Given the description of an element on the screen output the (x, y) to click on. 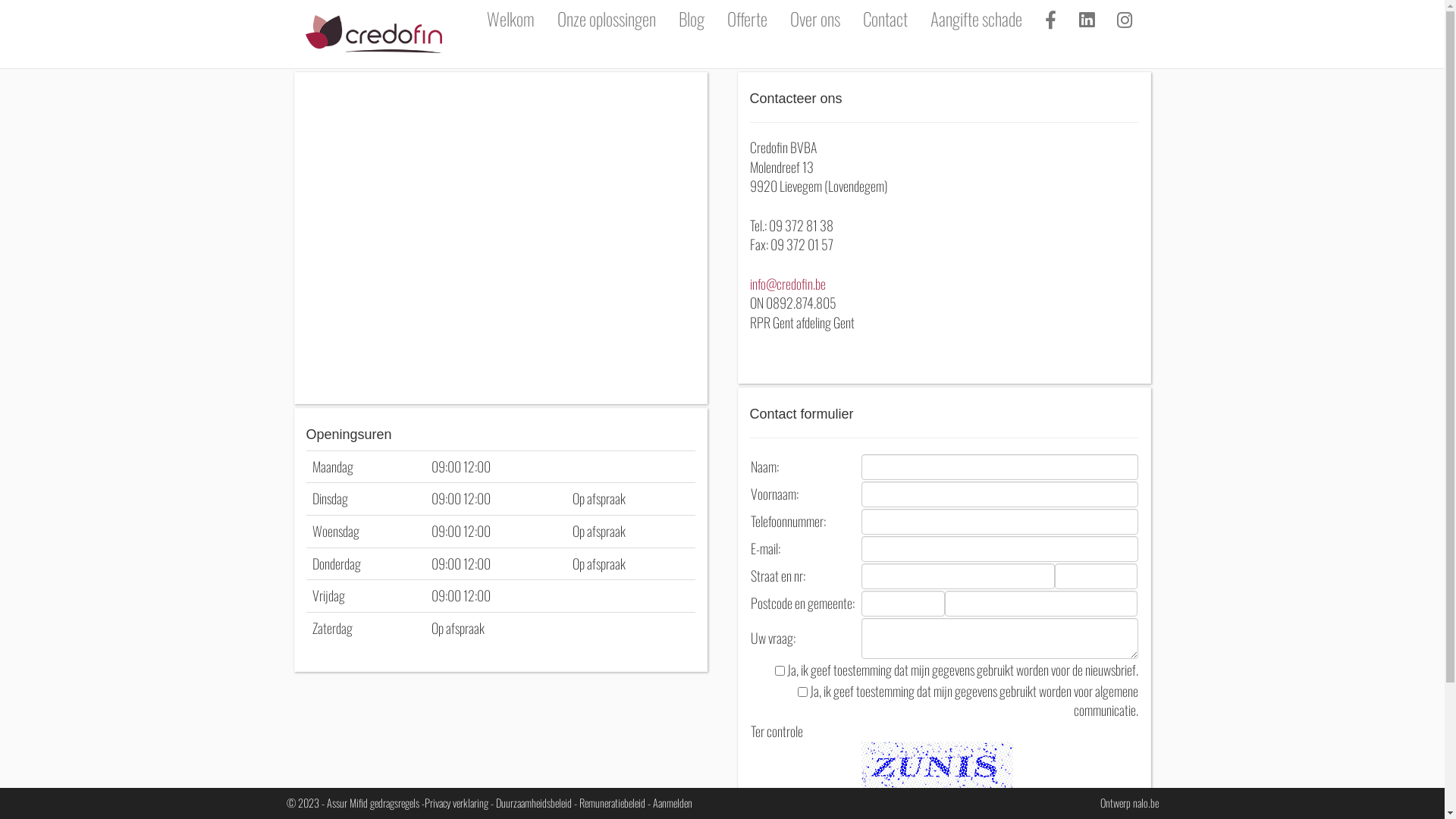
Privacy verklaring Element type: text (456, 802)
Assur Mifid gedragsregels Element type: text (372, 802)
Aanmelden Element type: text (671, 802)
Onze oplossingen Element type: text (606, 18)
Blog Element type: text (691, 18)
Refresh Element type: text (878, 803)
Duurzaamheidsbeleid Element type: text (533, 802)
Aangifte schade Element type: text (976, 18)
Over ons Element type: text (814, 18)
Offerte Element type: text (746, 18)
Welkom Element type: text (509, 18)
nalo.be Element type: text (1145, 802)
Remuneratiebeleid Element type: text (612, 802)
info@credofin.be Element type: text (787, 283)
Contact Element type: text (884, 18)
